Given the description of an element on the screen output the (x, y) to click on. 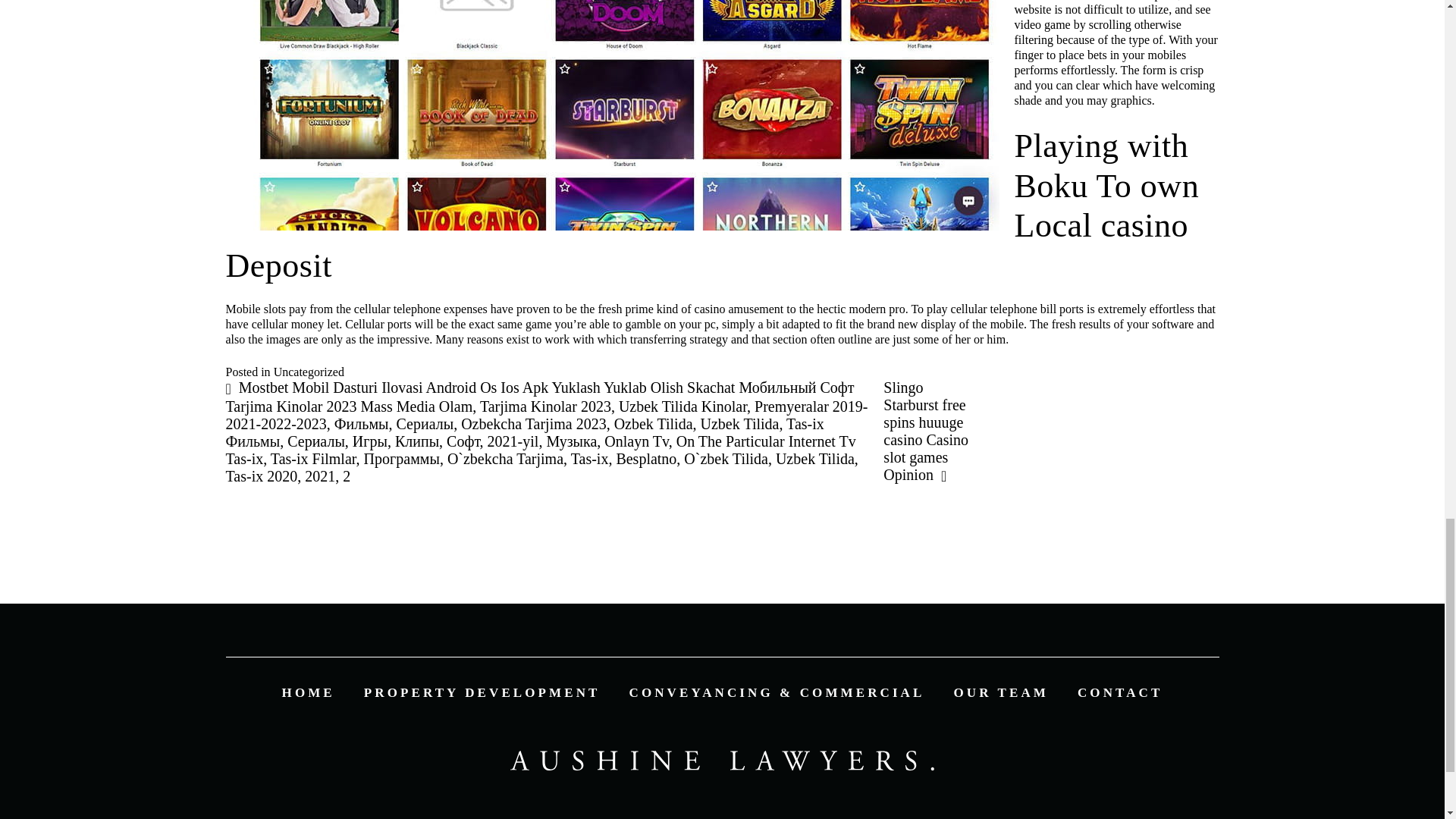
CONTACT (1119, 692)
HOME (308, 692)
Uncategorized (308, 371)
PROPERTY DEVELOPMENT (481, 692)
OUR TEAM (1000, 692)
